Given the description of an element on the screen output the (x, y) to click on. 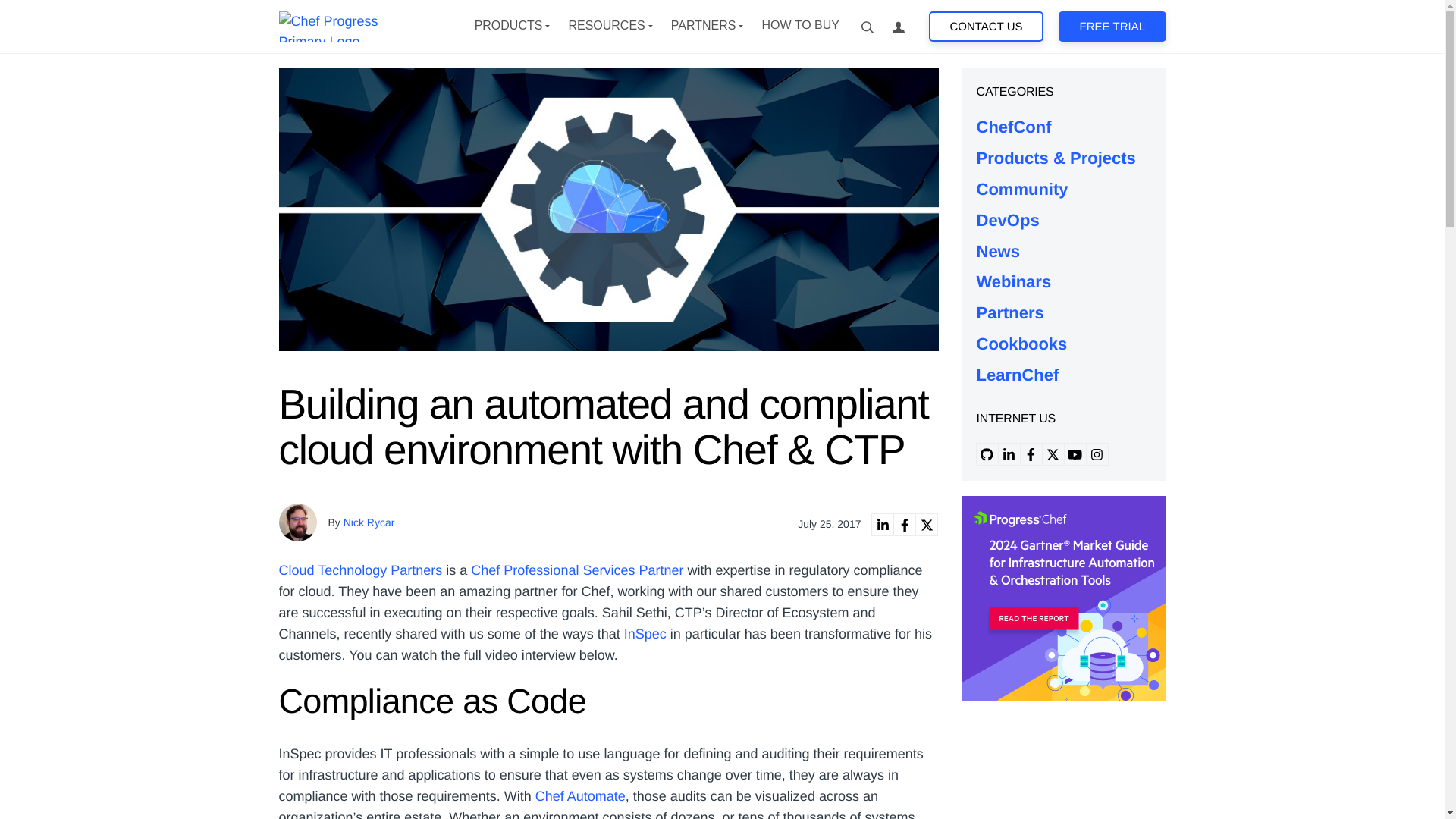
PARTNERS (703, 25)
SKIP NAVIGATION (352, 26)
Nick Rycar (368, 522)
HOW TO BUY (799, 25)
CONTACT US (985, 26)
nick-rycar (298, 522)
PRODUCTS (508, 25)
RESOURCES (606, 25)
